Given the description of an element on the screen output the (x, y) to click on. 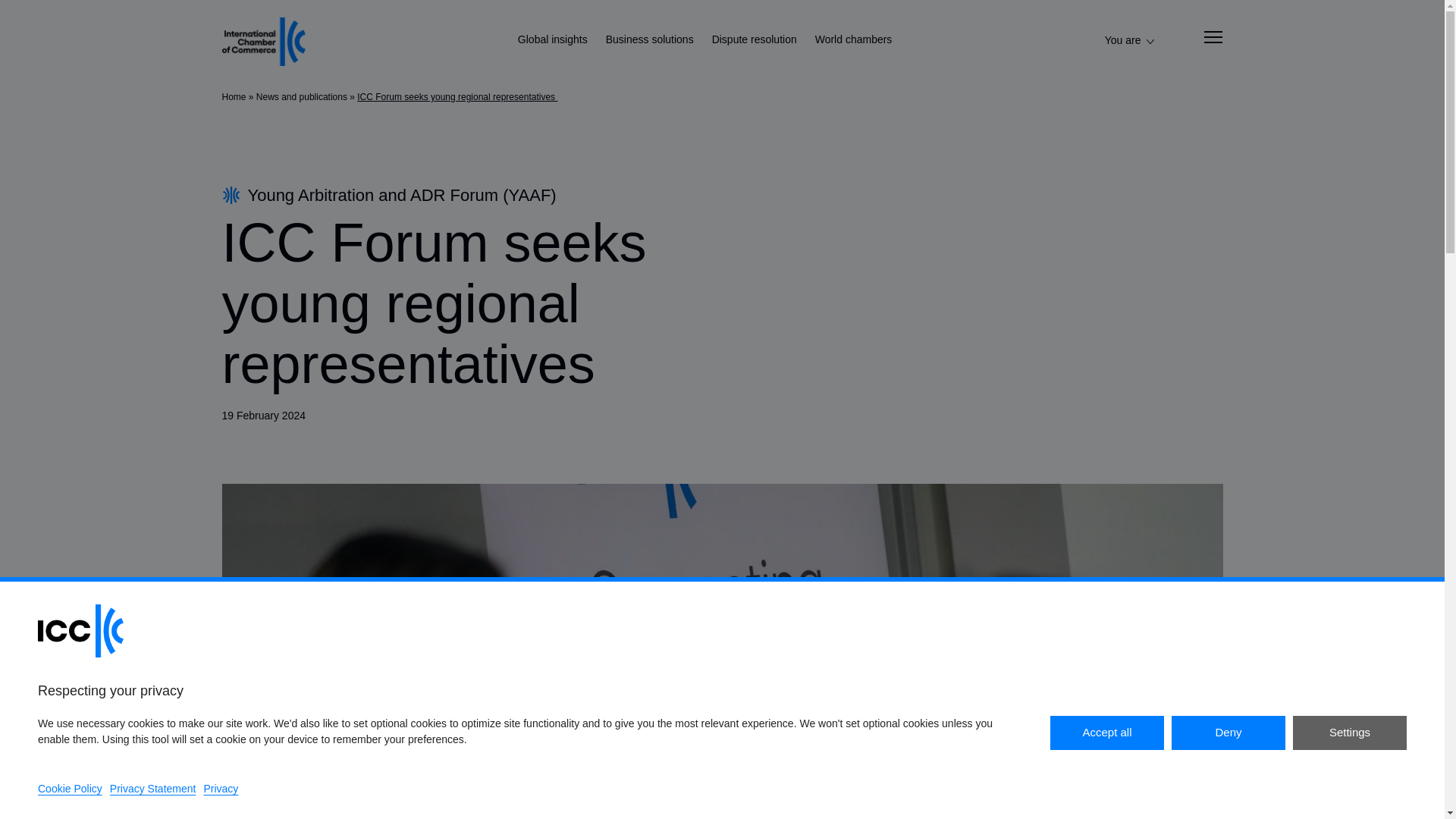
Accept all (1106, 732)
ICC - International Chamber of Commerce (262, 41)
Privacy (220, 788)
Deny (1228, 732)
Settings (1349, 732)
Privacy Statement (153, 788)
Cookie Policy (69, 788)
